Given the description of an element on the screen output the (x, y) to click on. 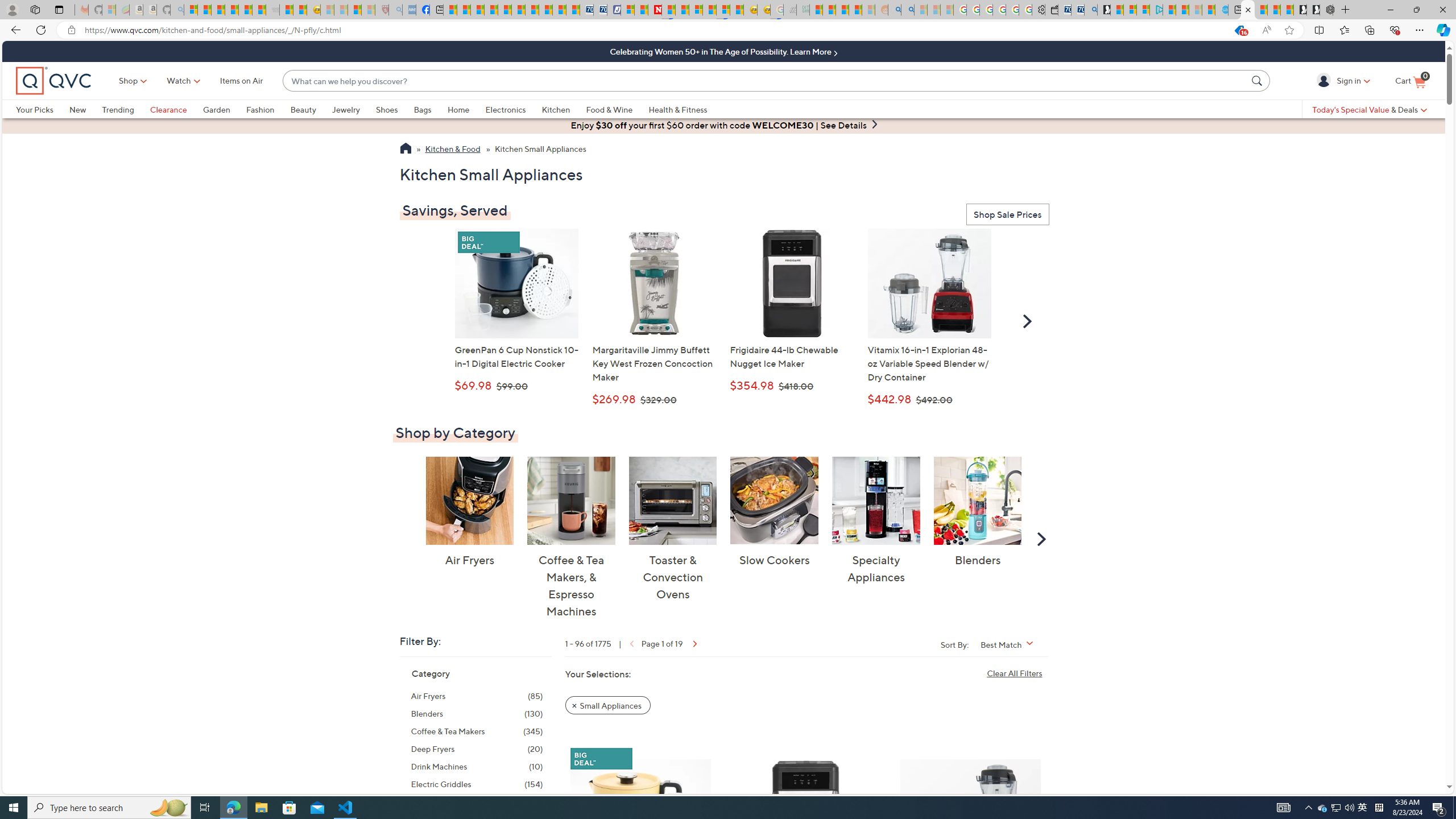
Electric Griddles, 154 items (476, 784)
Clearance (168, 109)
Shop Sale Prices (1007, 214)
Air Fryers Air Fryers (469, 512)
12 Popular Science Lies that Must be Corrected - Sleeping (368, 9)
Previous Page (630, 643)
